Given the description of an element on the screen output the (x, y) to click on. 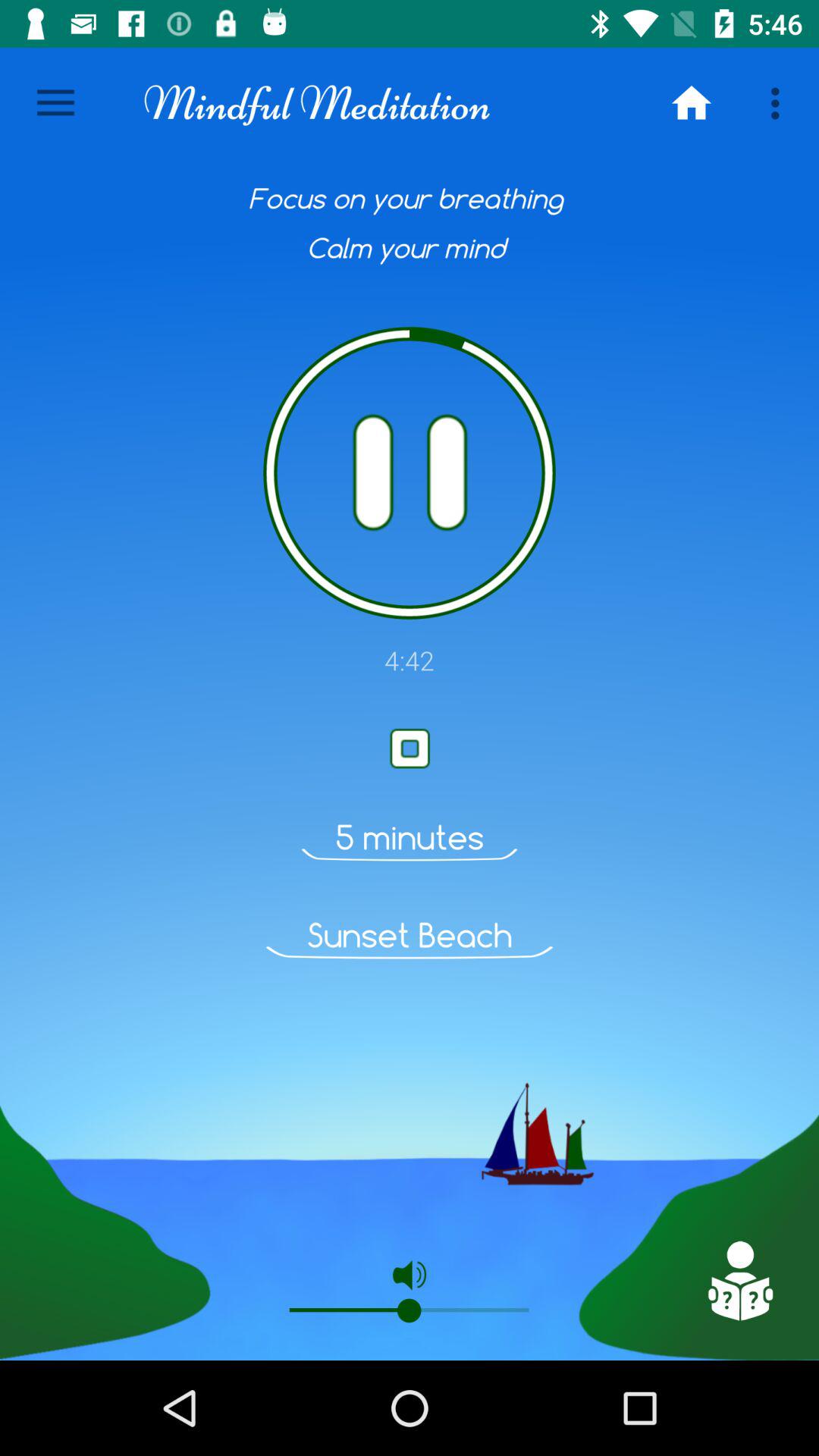
click the item below   5 minutes   icon (409, 935)
